Given the description of an element on the screen output the (x, y) to click on. 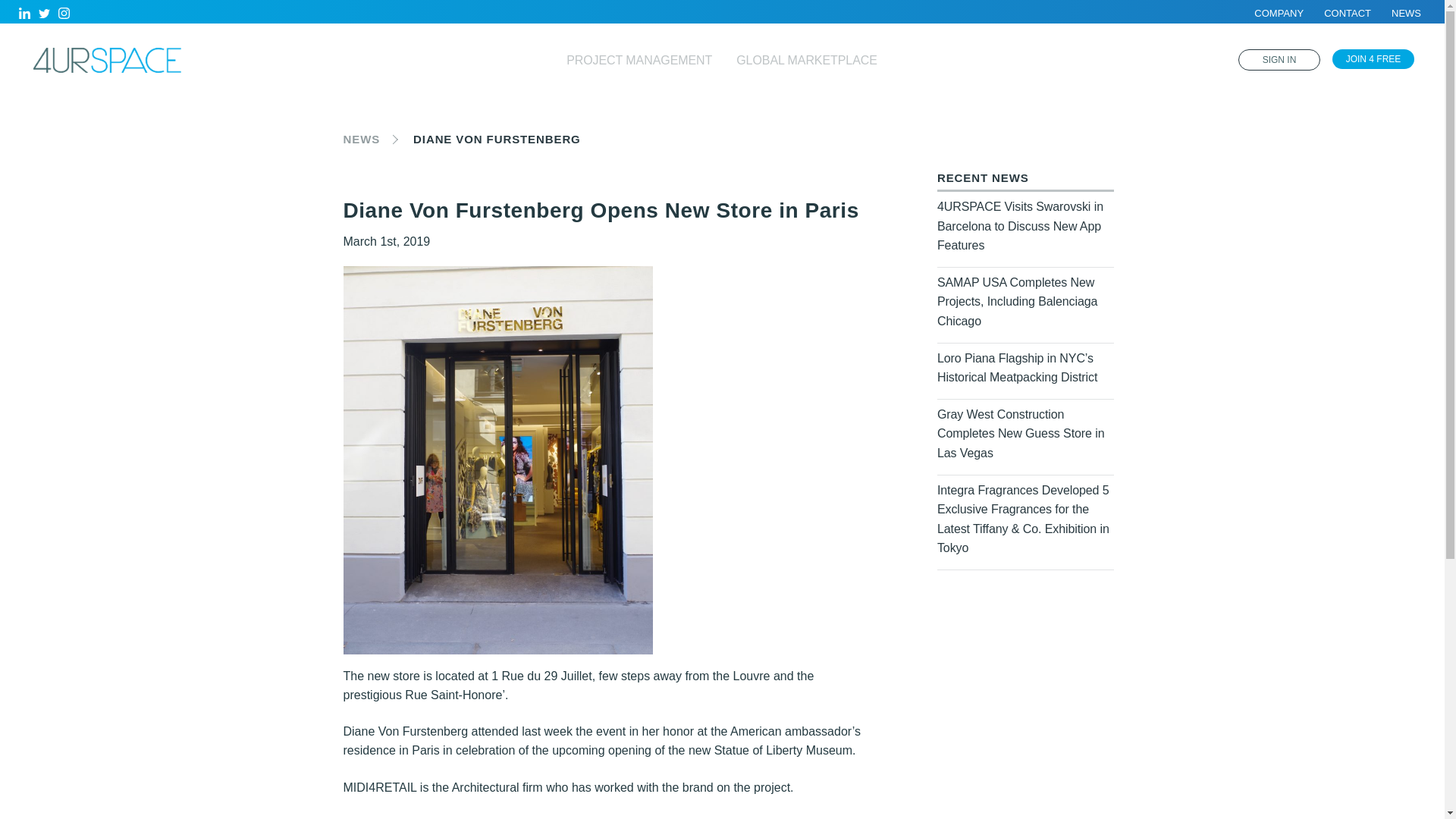
CONTACT (1347, 12)
SIGN IN (1279, 59)
NEWS (361, 138)
PROJECT MANAGEMENT (638, 60)
DIANE VON FURSTENBERG (496, 138)
GLOBAL MARKETPLACE (806, 60)
NEWS (1406, 12)
COMPANY (1278, 12)
JOIN 4 FREE (1372, 58)
MIDI4RETAIL (379, 818)
MIDI4RETAIL (379, 787)
